Given the description of an element on the screen output the (x, y) to click on. 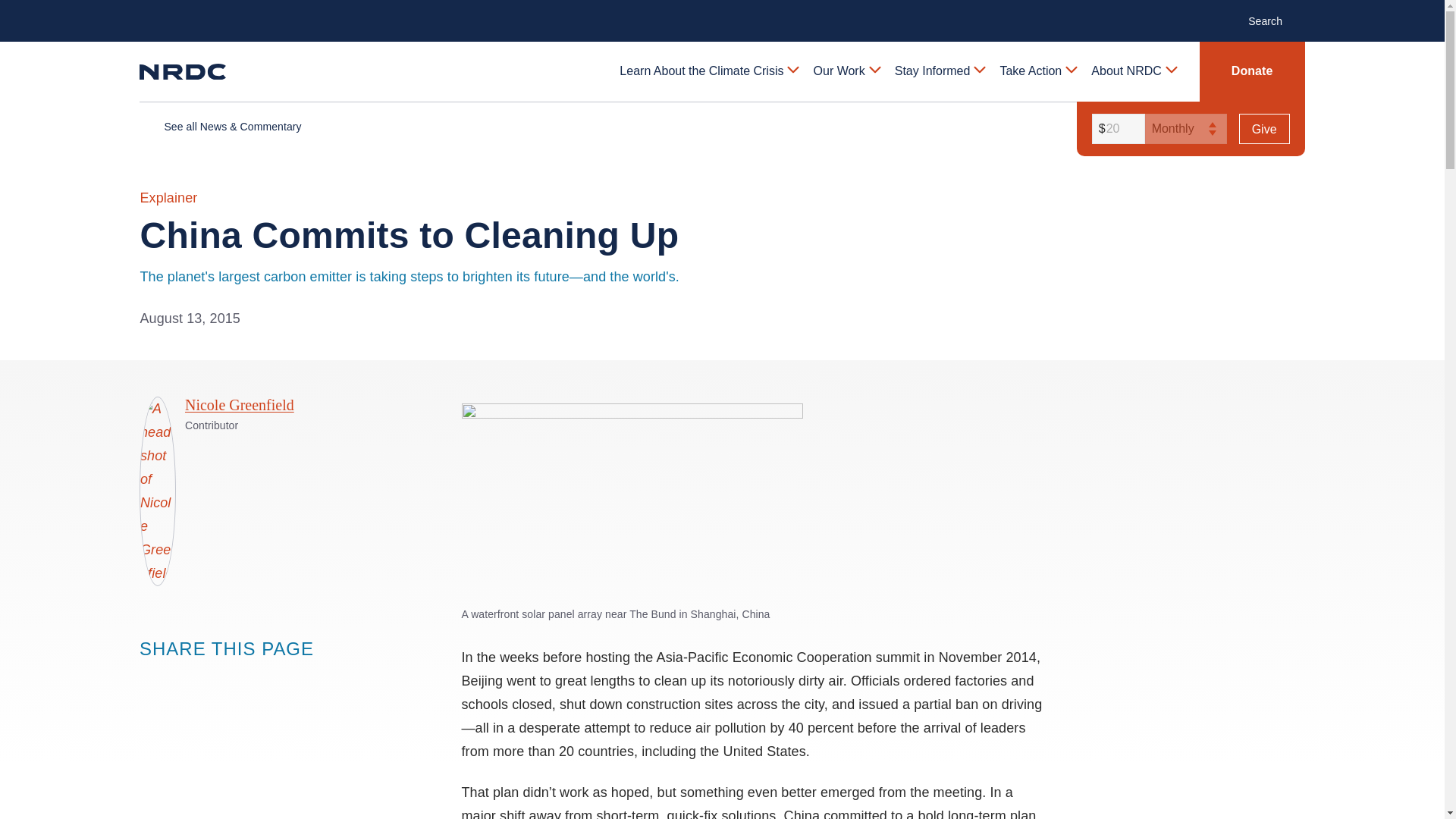
Stay Informed (939, 71)
20 (1116, 128)
Share this page block (149, 677)
Learn About the Climate Crisis (707, 71)
Skip to main content (721, 12)
Our Work (846, 71)
Share this page block (180, 677)
Search (1272, 19)
Share this page block (210, 677)
